Given the description of an element on the screen output the (x, y) to click on. 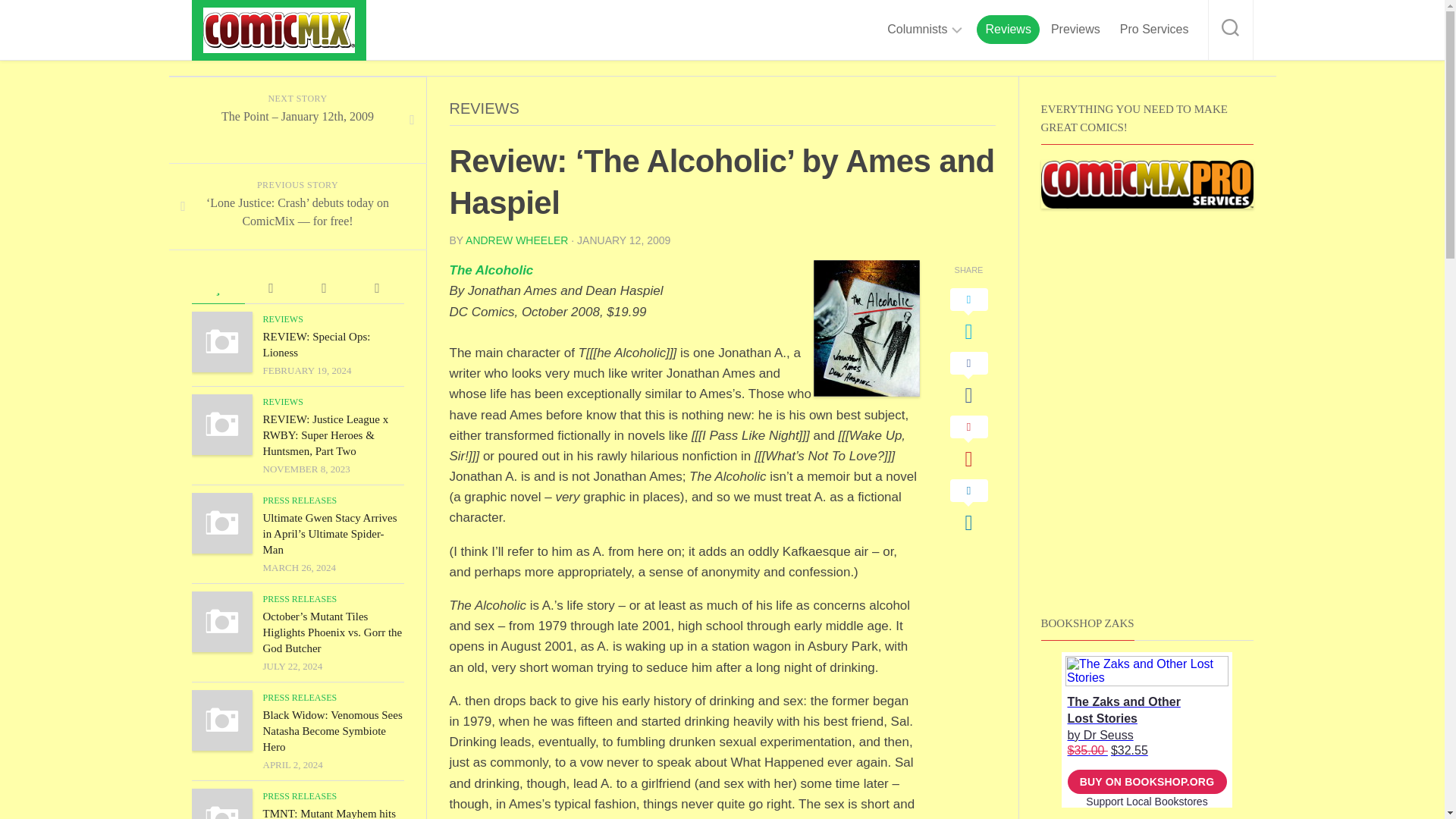
Columnists (916, 29)
REVIEWS (483, 108)
Previews (1075, 29)
Posts by Andrew Wheeler (516, 240)
Pro Services (1154, 29)
Tags (376, 287)
ANDREW WHEELER (516, 240)
Recent Comments (270, 287)
The Alcoholic (490, 269)
Reviews (1007, 29)
